Given the description of an element on the screen output the (x, y) to click on. 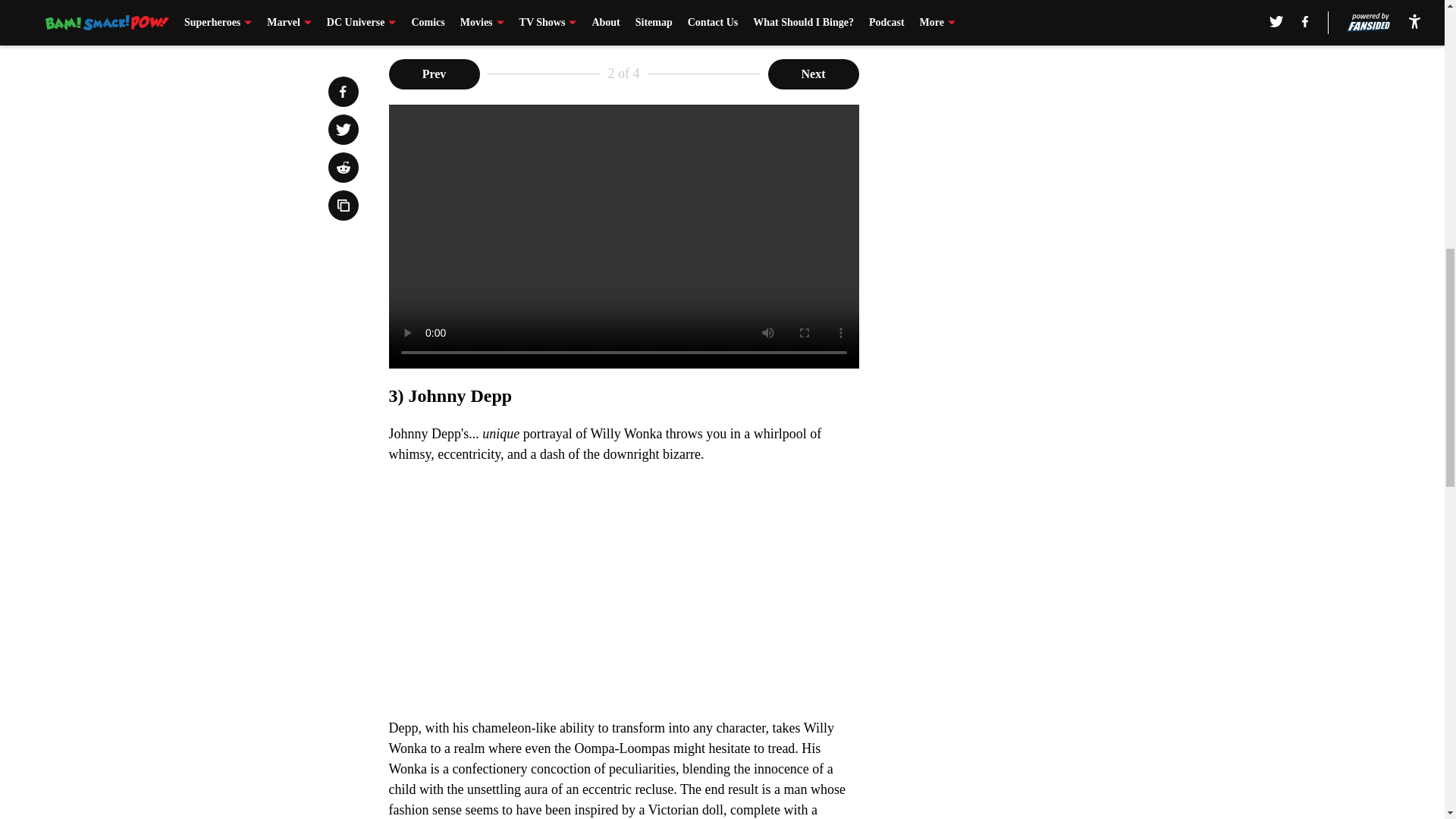
3rd party ad content (1047, 373)
3rd party ad content (1047, 153)
